Given the description of an element on the screen output the (x, y) to click on. 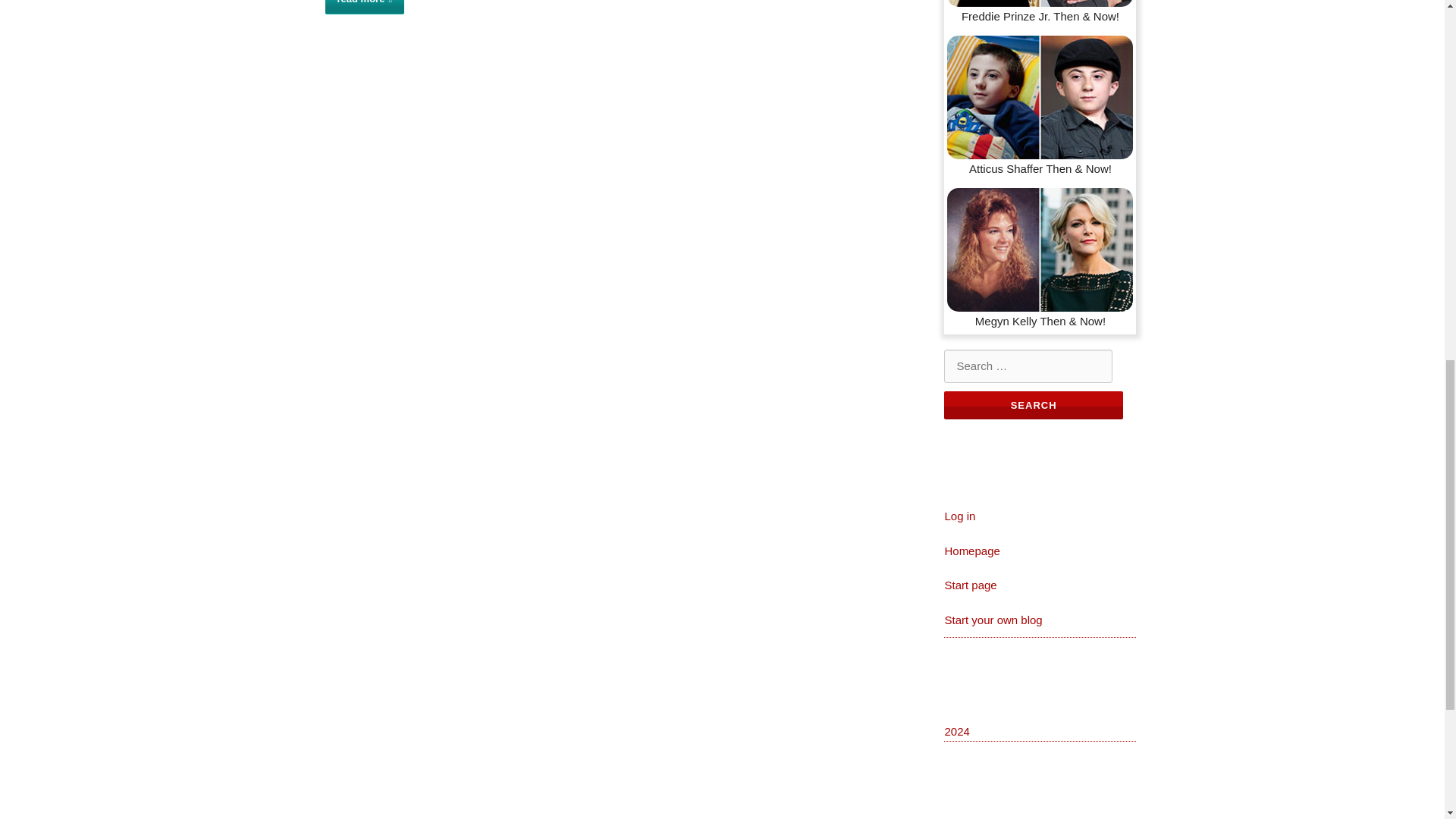
Search (1032, 405)
Search (1032, 405)
Start your own blog (992, 619)
Homepage (970, 550)
Log in (959, 515)
read more (364, 7)
2024 (956, 730)
Start page (969, 584)
Search (1032, 405)
